Given the description of an element on the screen output the (x, y) to click on. 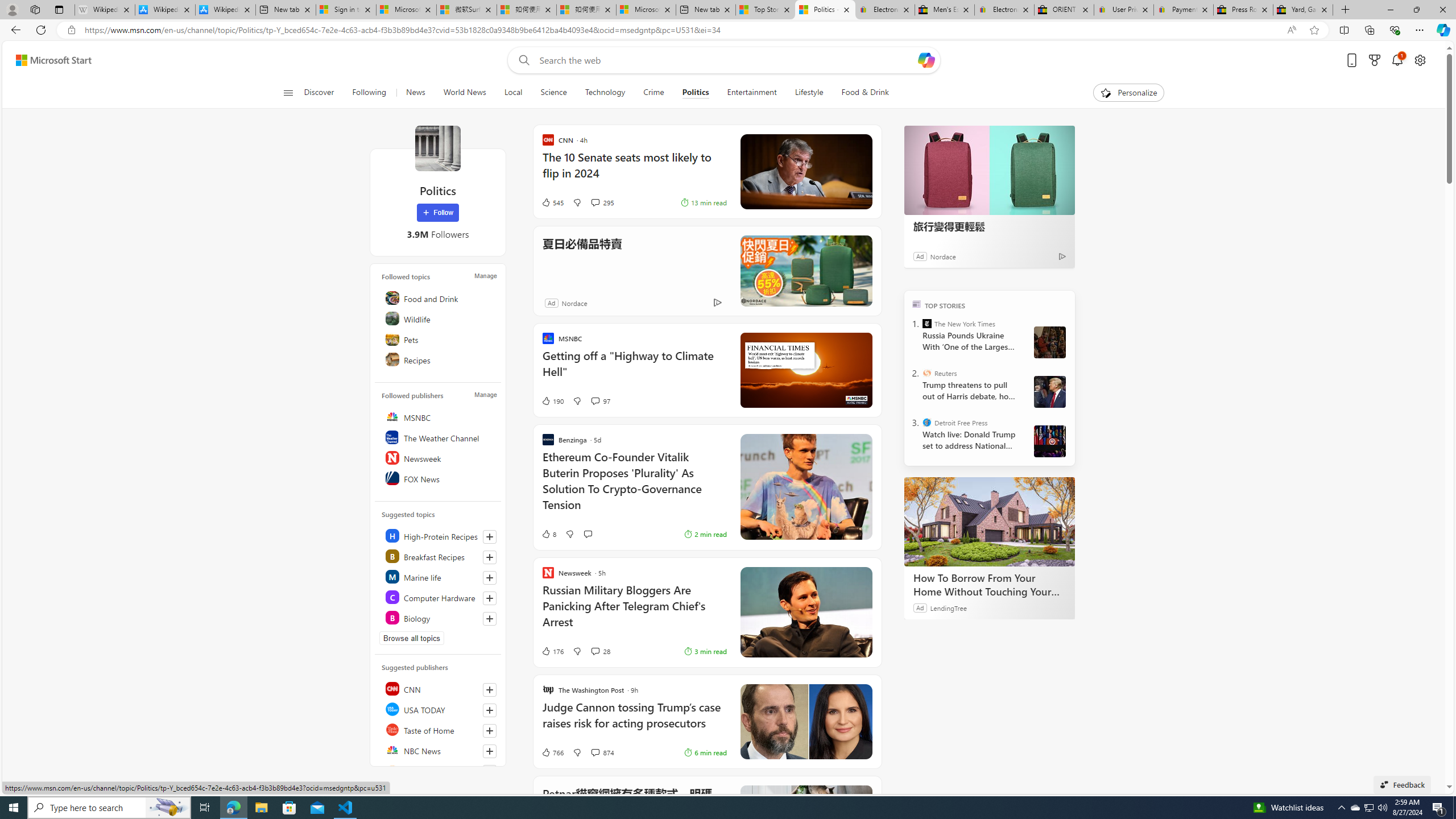
TOP (916, 302)
Taste of Home (439, 729)
545 Like (551, 202)
Follow this source (489, 771)
04:34PreviewMSNBCGetting off a "Highway to Climate Hell"190 (707, 369)
Detroit Free Press (927, 422)
